Given the description of an element on the screen output the (x, y) to click on. 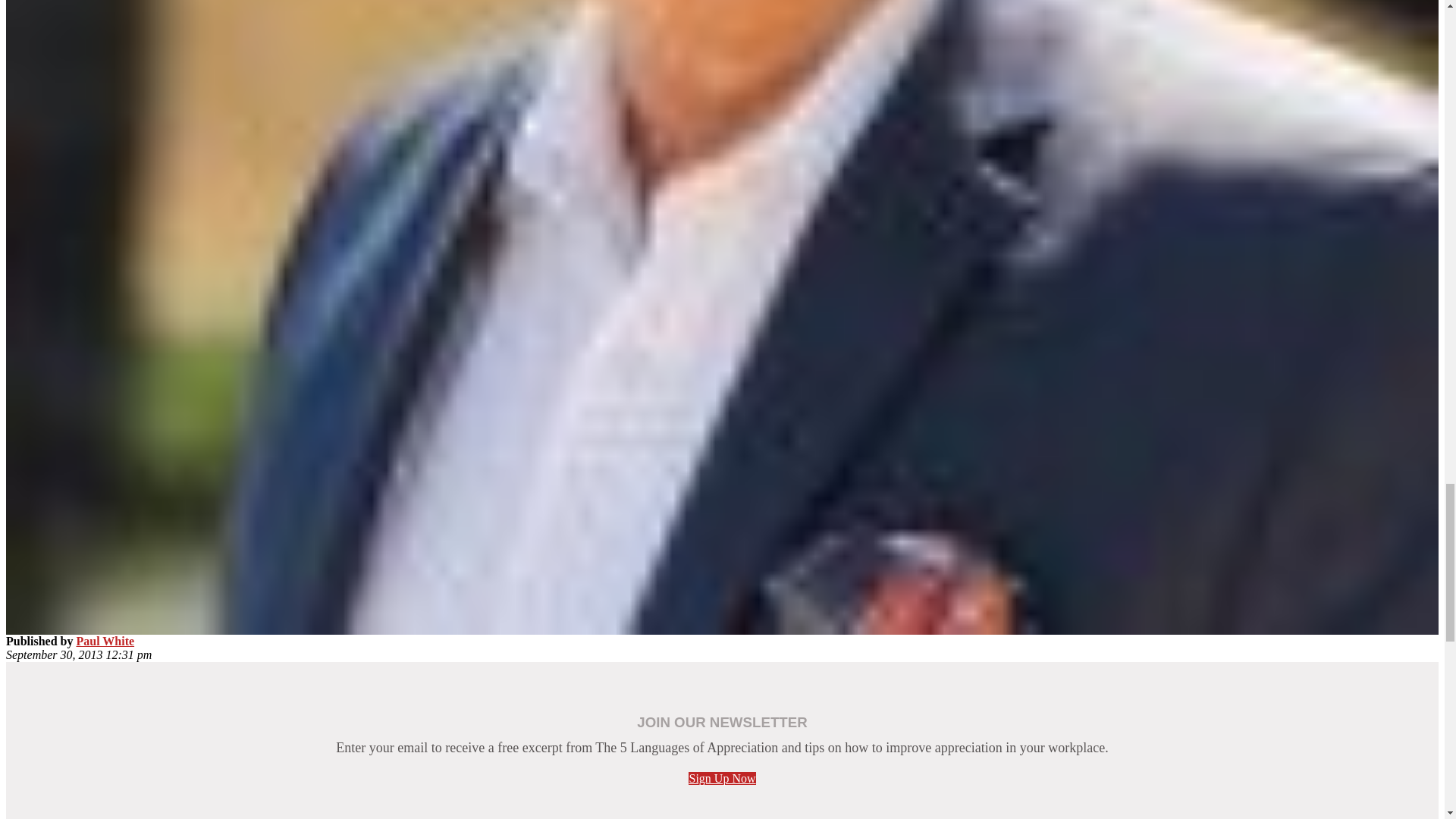
Paul White (104, 640)
Sign Up Now (721, 778)
Posts by Paul White (104, 640)
